Given the description of an element on the screen output the (x, y) to click on. 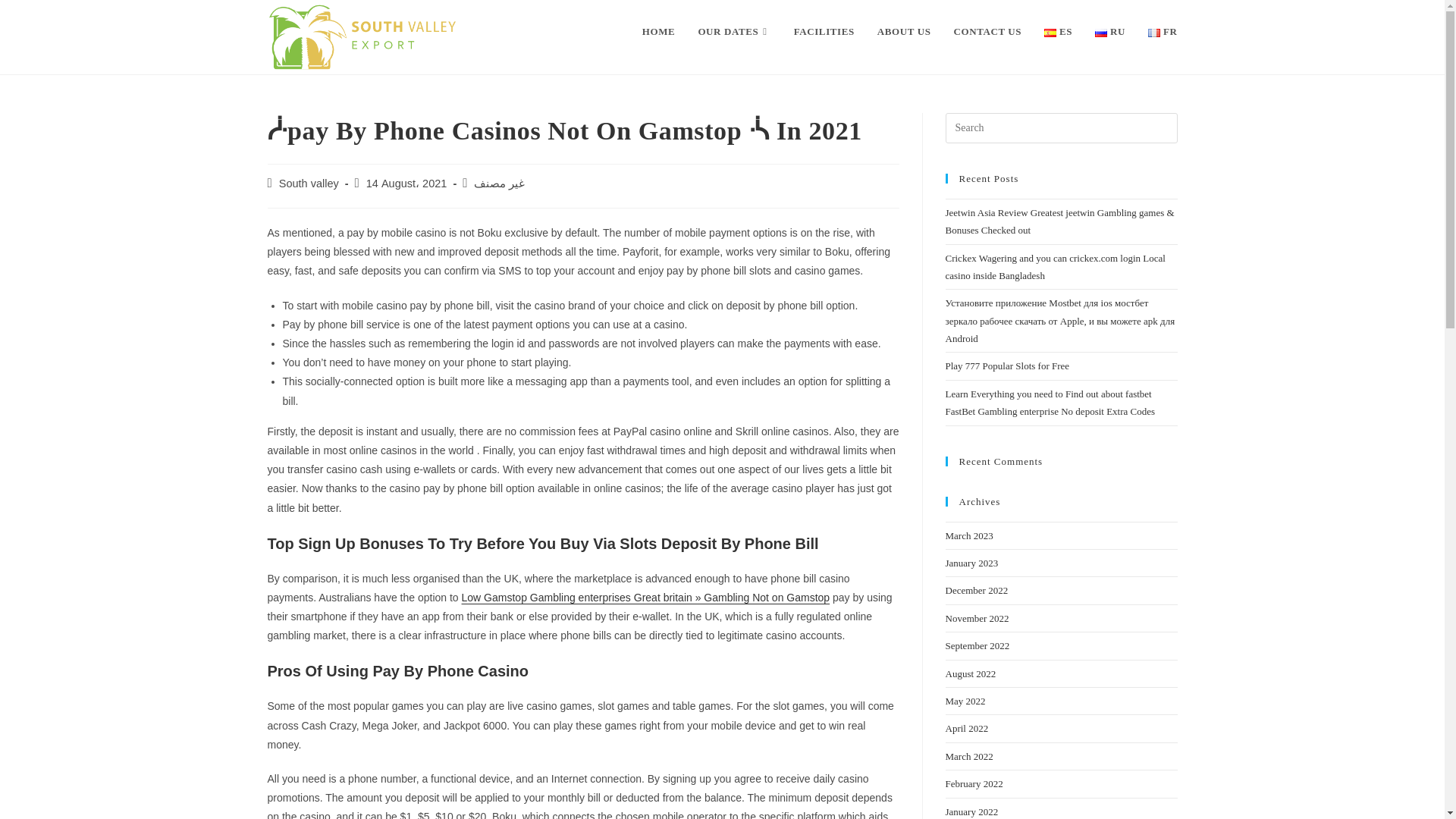
CONTACT US (987, 31)
FACILITIES (824, 31)
FR (1162, 31)
ABOUT US (904, 31)
OUR DATES (733, 31)
South valley (309, 183)
RU (1110, 31)
HOME (658, 31)
ES (1057, 31)
